Given the description of an element on the screen output the (x, y) to click on. 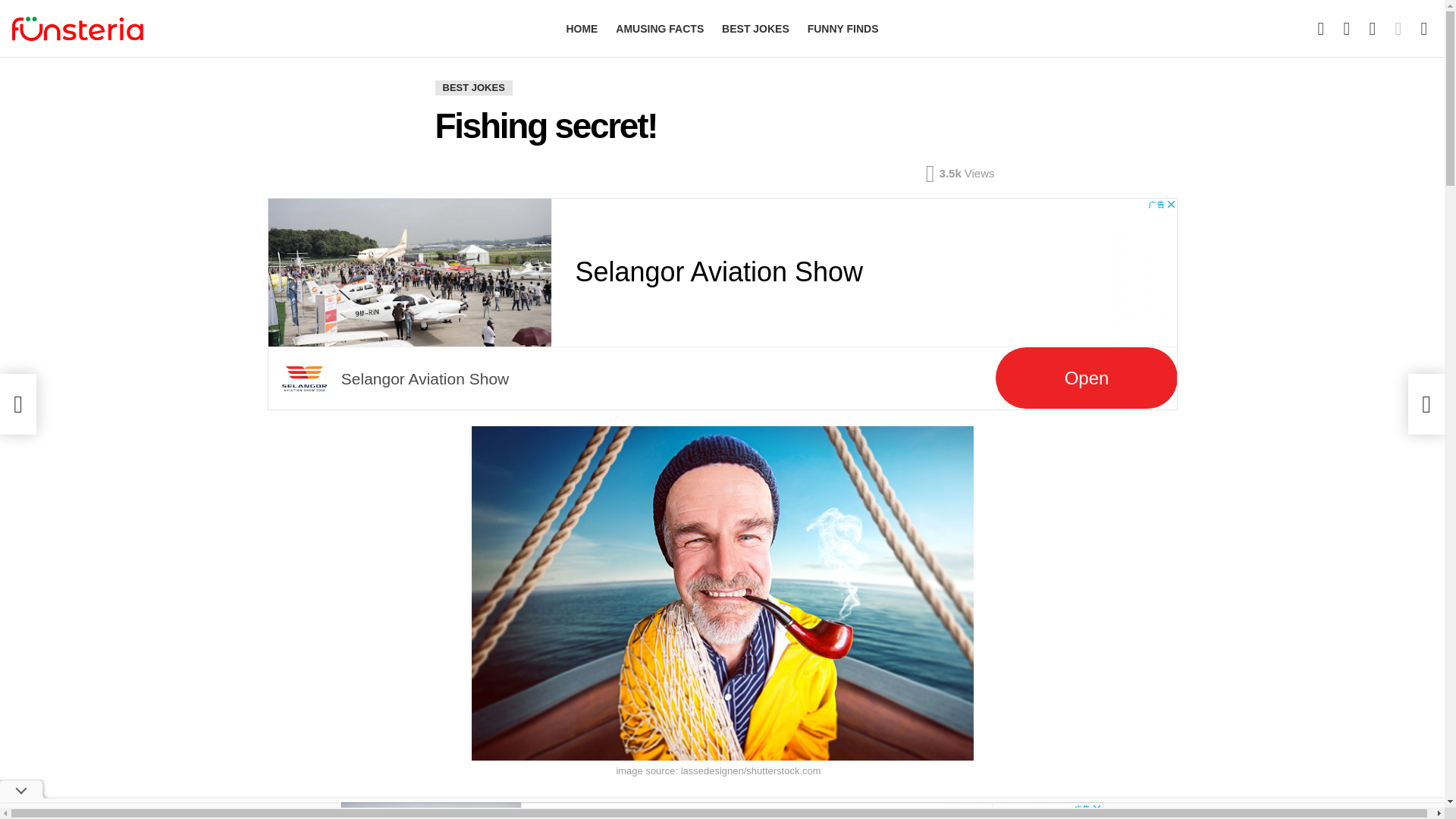
BEST JOKES (473, 87)
FUNNY FINDS (842, 28)
AMUSING FACTS (659, 28)
HOME (581, 28)
BEST JOKES (755, 28)
Sign up (1234, 178)
